Given the description of an element on the screen output the (x, y) to click on. 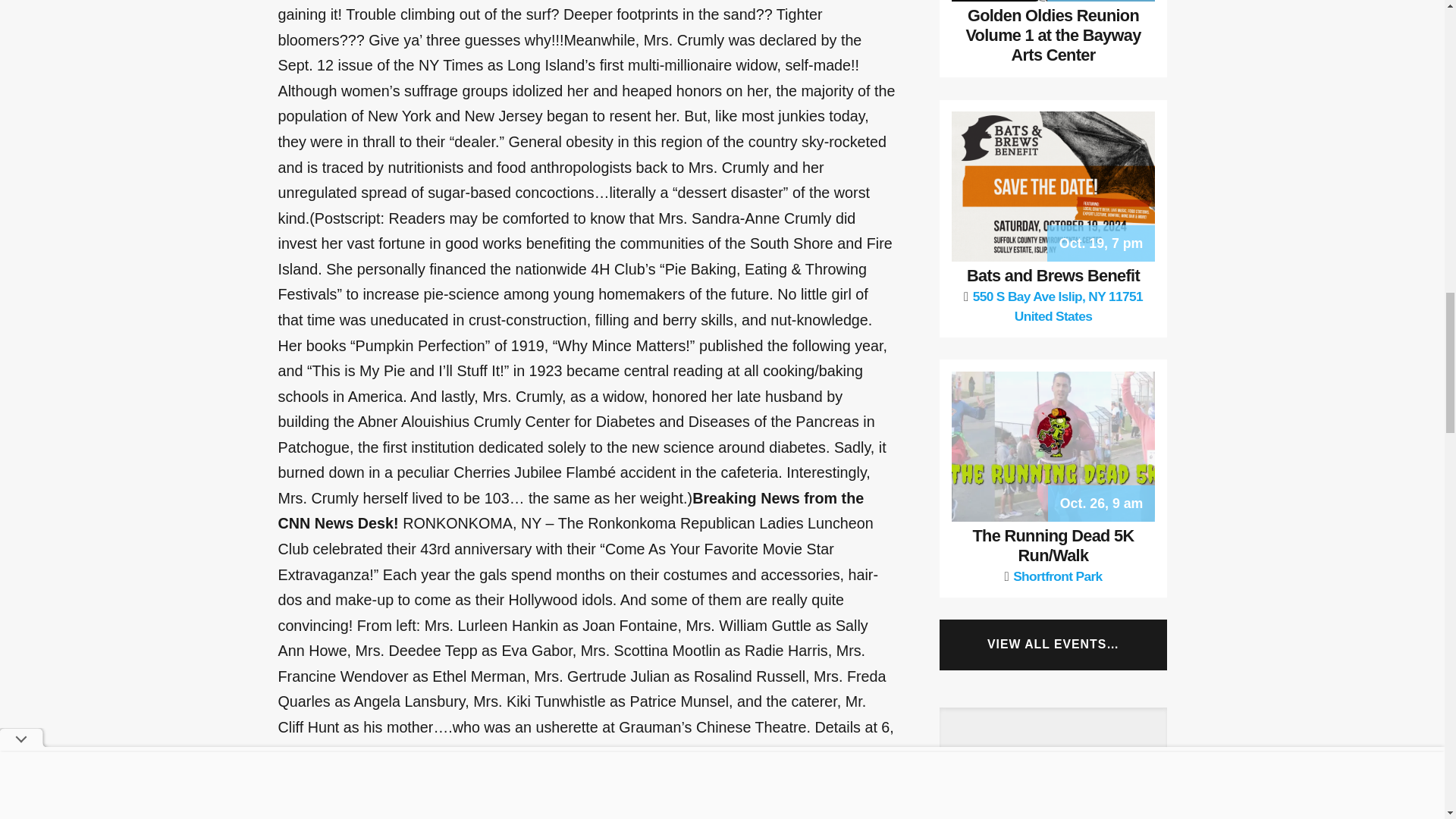
Reddit (352, 795)
Email (322, 795)
Facebook (292, 795)
